Given the description of an element on the screen output the (x, y) to click on. 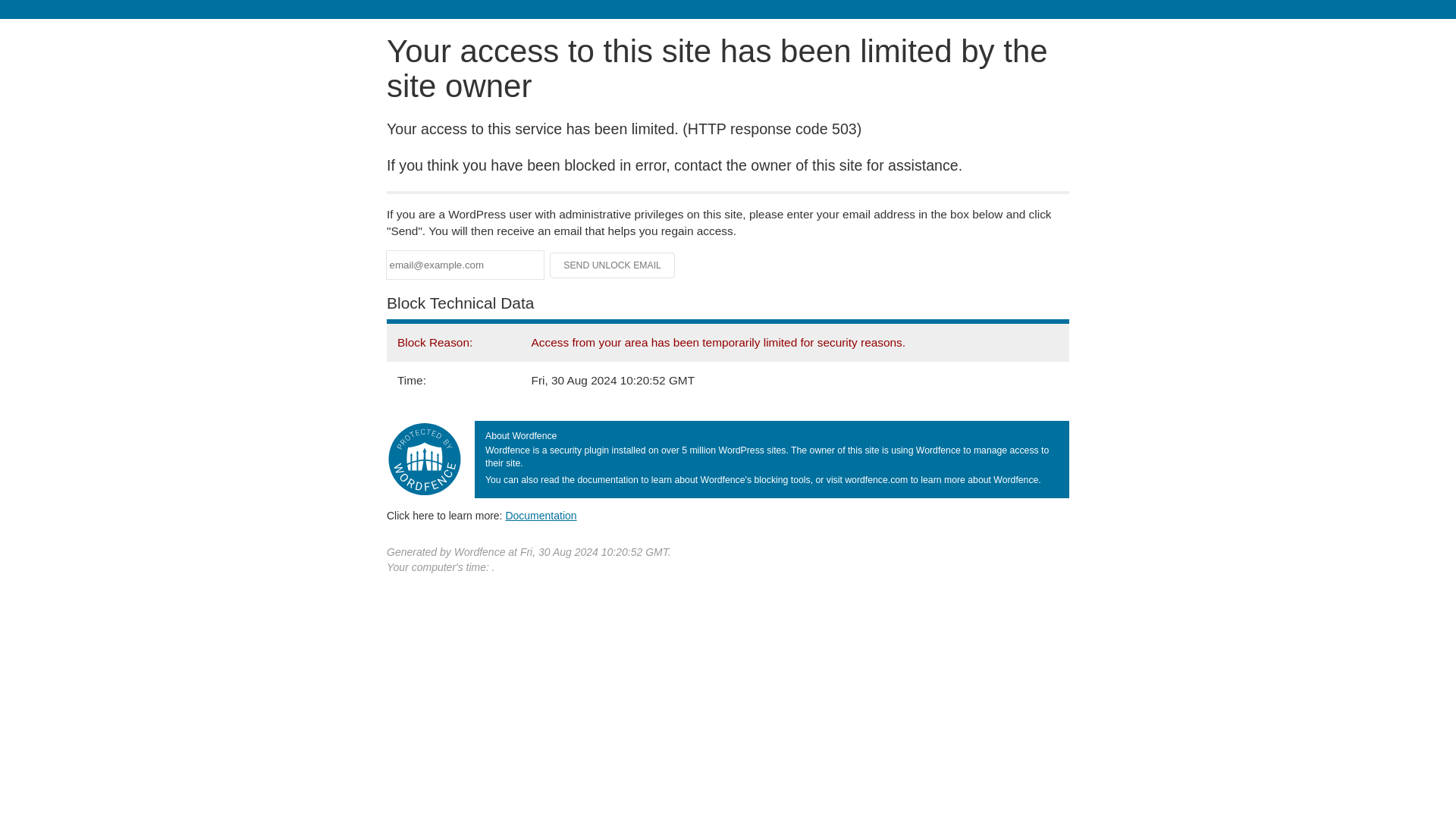
Send Unlock Email (612, 265)
Documentation (540, 515)
Send Unlock Email (612, 265)
